Given the description of an element on the screen output the (x, y) to click on. 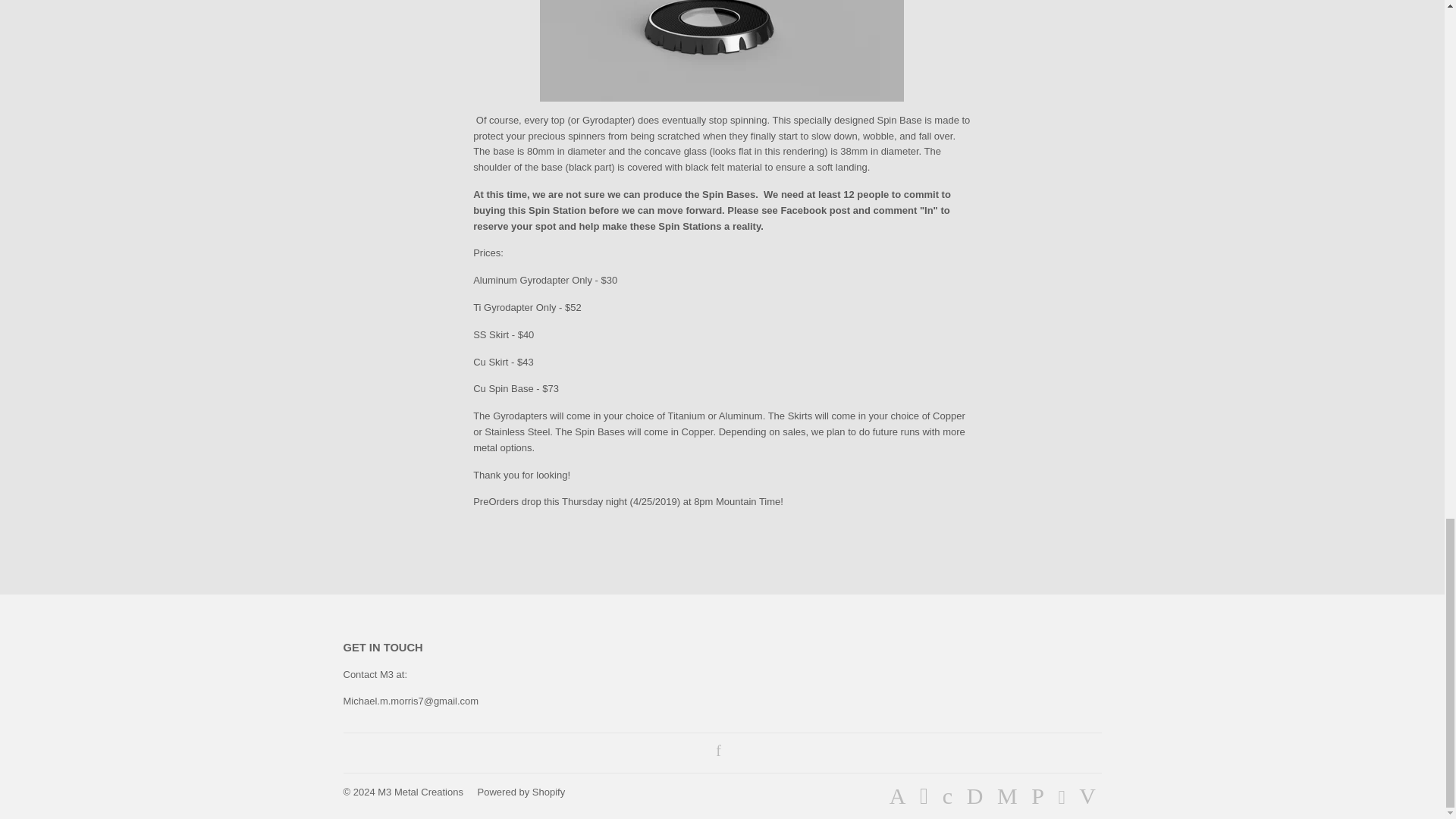
Powered by Shopify (521, 791)
M3 Metal Creations (420, 791)
